Given the description of an element on the screen output the (x, y) to click on. 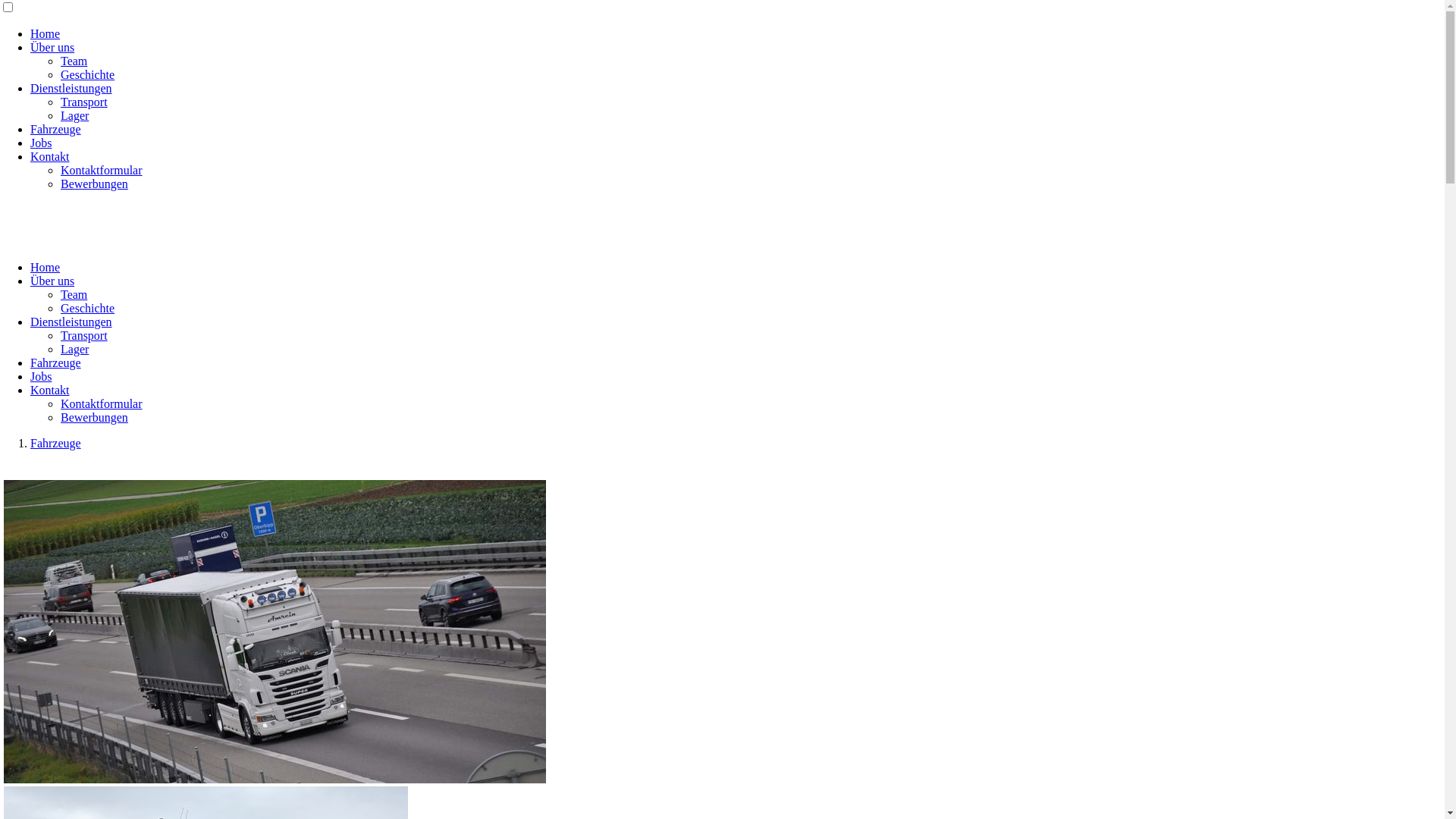
Lager Element type: text (74, 115)
Fahrzeuge Element type: text (55, 362)
Kontaktformular Element type: text (101, 169)
Bewerbungen Element type: text (94, 183)
Geschichte Element type: text (87, 74)
Kontakt Element type: text (49, 389)
Bewerbungen Element type: text (94, 417)
Dienstleistungen Element type: text (71, 321)
Fahrzeuge Element type: text (55, 128)
Team Element type: text (73, 60)
Jobs Element type: text (40, 142)
Lager Element type: text (74, 348)
Kontaktformular Element type: text (101, 403)
Team Element type: text (73, 294)
Home Element type: text (44, 266)
Home Element type: text (44, 33)
Jobs Element type: text (40, 376)
Transport Element type: text (83, 335)
Transport Element type: text (83, 101)
Geschichte Element type: text (87, 307)
Kontakt Element type: text (49, 156)
Fahrzeuge Element type: text (55, 442)
Dienstleistungen Element type: text (71, 87)
